Given the description of an element on the screen output the (x, y) to click on. 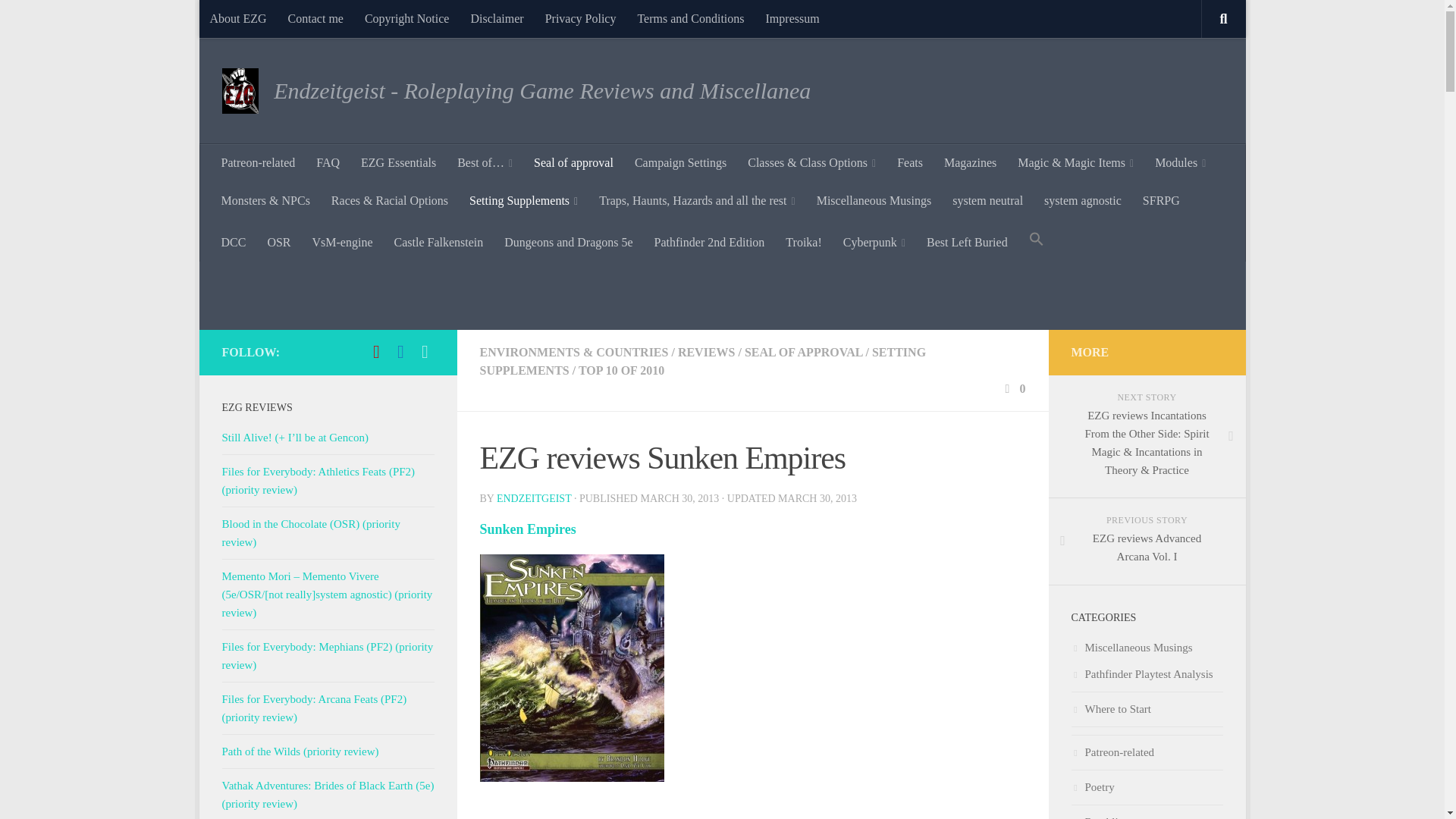
Skip to content (258, 20)
Follow us on Patreon (375, 352)
Posts by endzeitgeist (534, 498)
Follow us on Facebook (400, 352)
